Given the description of an element on the screen output the (x, y) to click on. 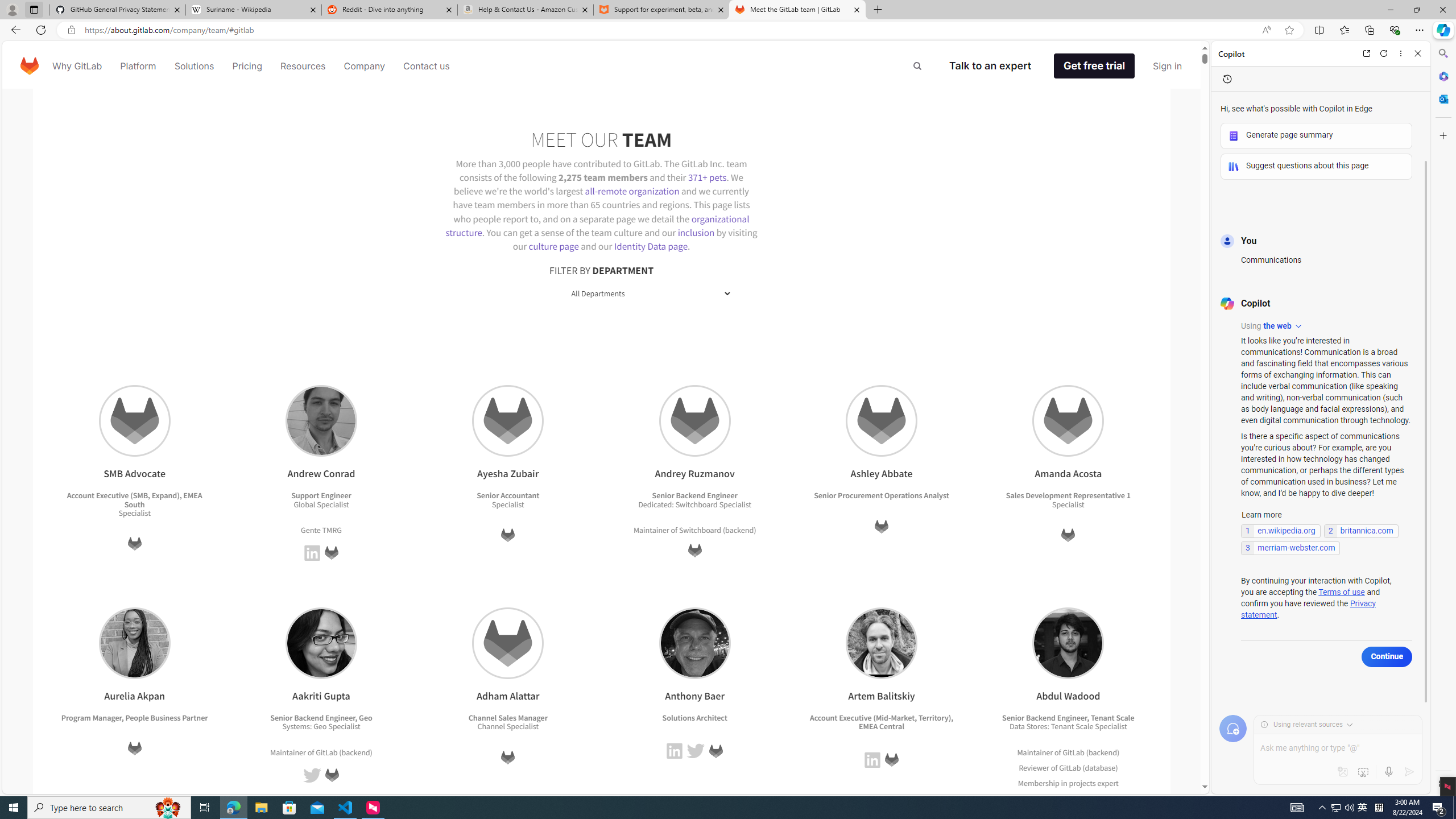
Account Executive (Mid-Market, Territory), EMEA Central (881, 721)
Platform (138, 65)
Aurelia Akpan (134, 642)
Contact us (426, 65)
Get free trial (1094, 65)
Identity Data page (650, 246)
Talk to an expert (990, 65)
Resources (302, 65)
Resources (302, 65)
Abdul Wadood (1067, 642)
Channel Sales Manager (507, 717)
